Given the description of an element on the screen output the (x, y) to click on. 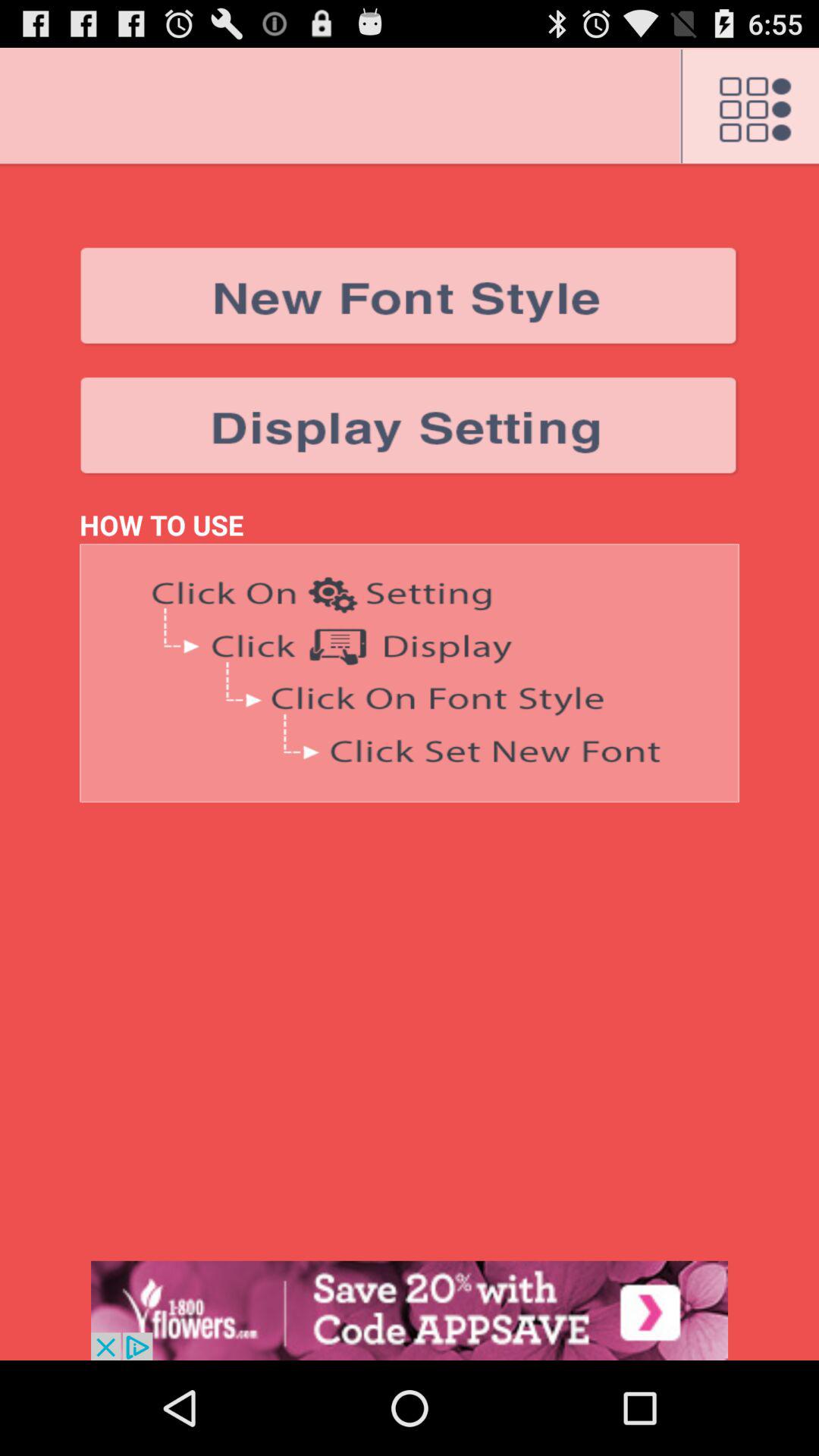
click to expand the tutorial (409, 672)
